Given the description of an element on the screen output the (x, y) to click on. 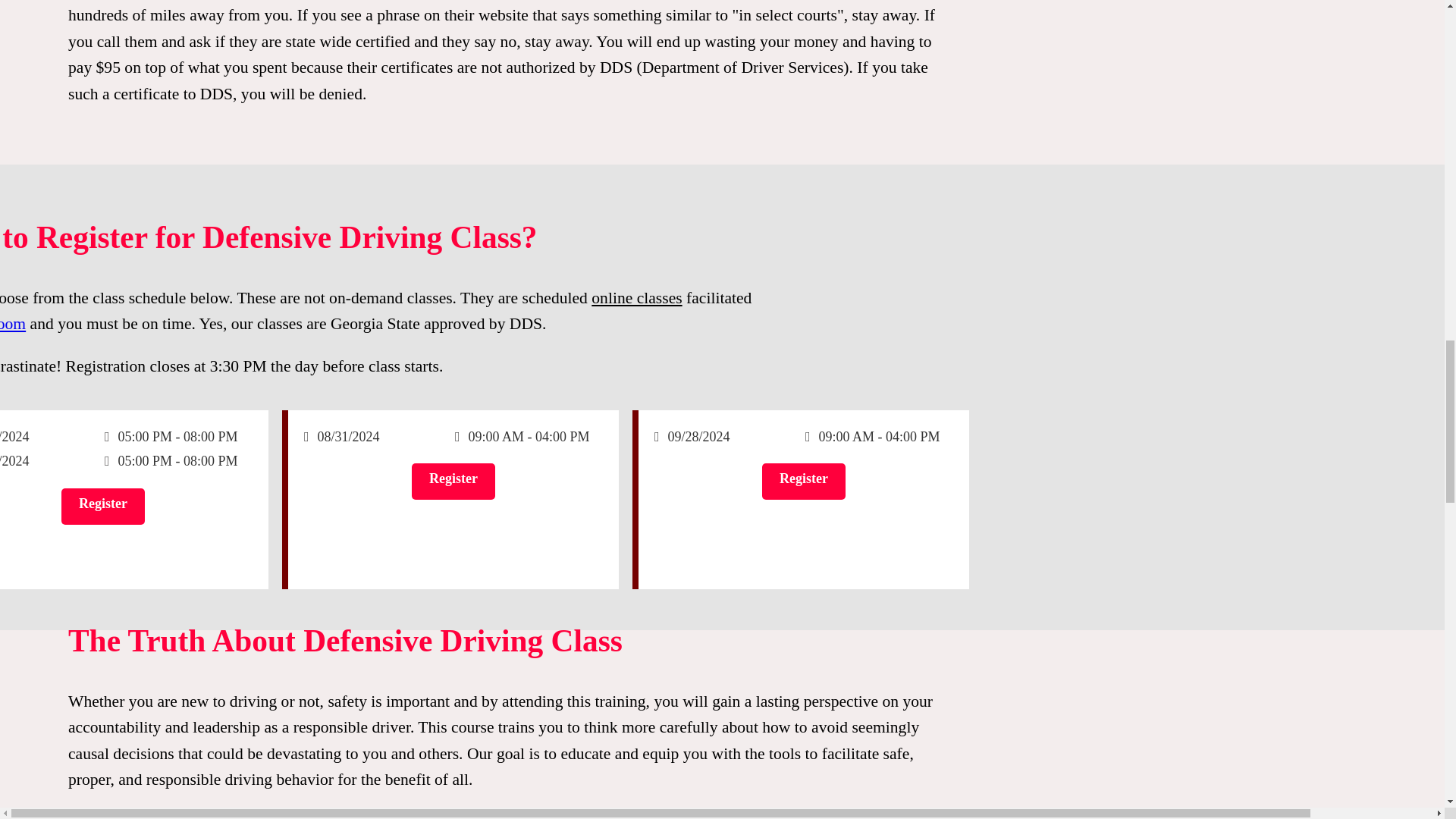
Register (803, 481)
Register (127, 506)
How to Register for Defensive Driving Class? (687, 244)
Zoom (13, 323)
Register (453, 481)
